Given the description of an element on the screen output the (x, y) to click on. 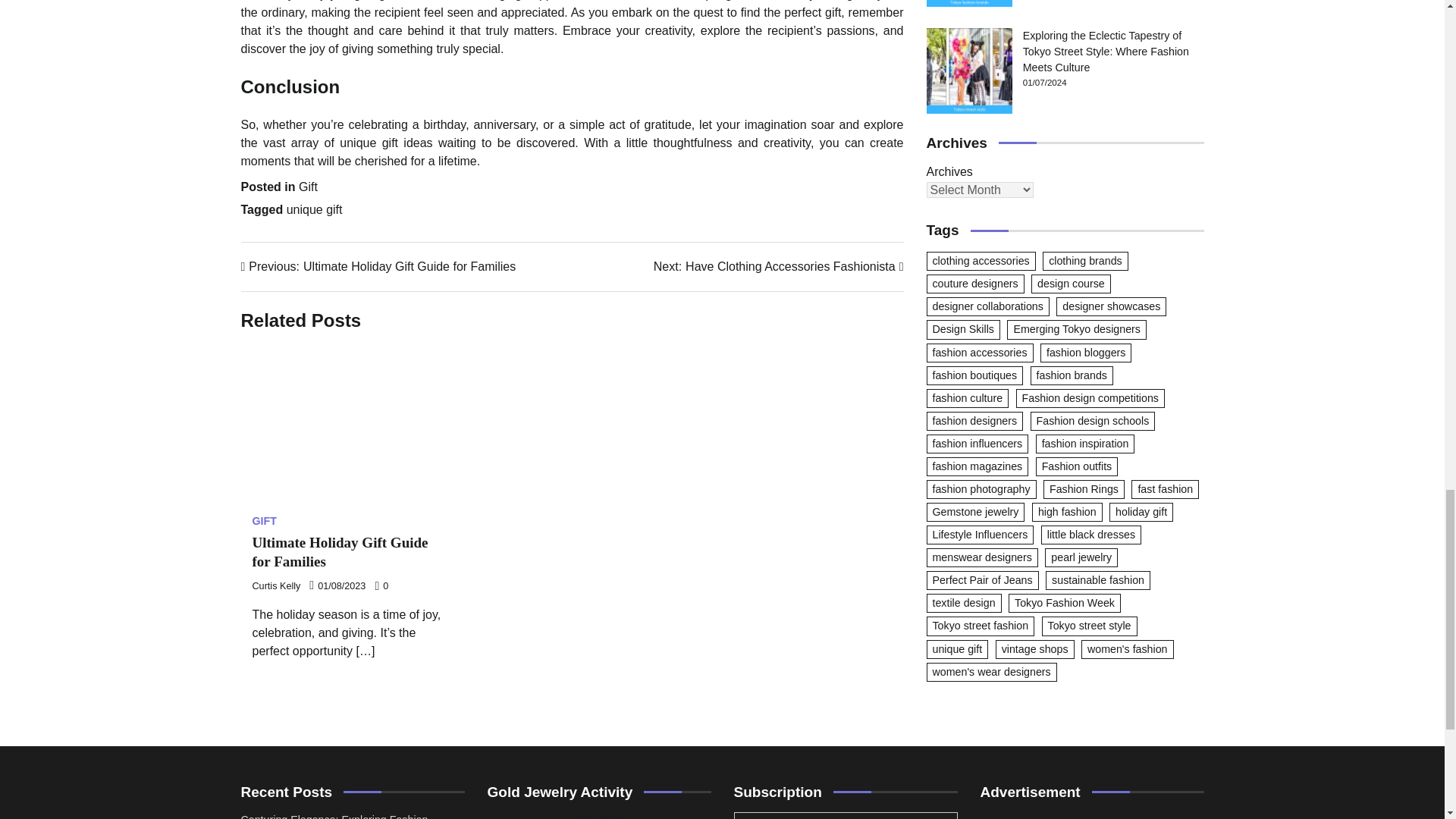
Ultimate Holiday Gift Guide for Families (349, 424)
Micro Business (1091, 815)
GIFT (263, 520)
Ultimate Holiday Gift Guide for Families (339, 551)
Curtis Kelly (778, 266)
unique gift (275, 585)
Gift (314, 209)
